Given the description of an element on the screen output the (x, y) to click on. 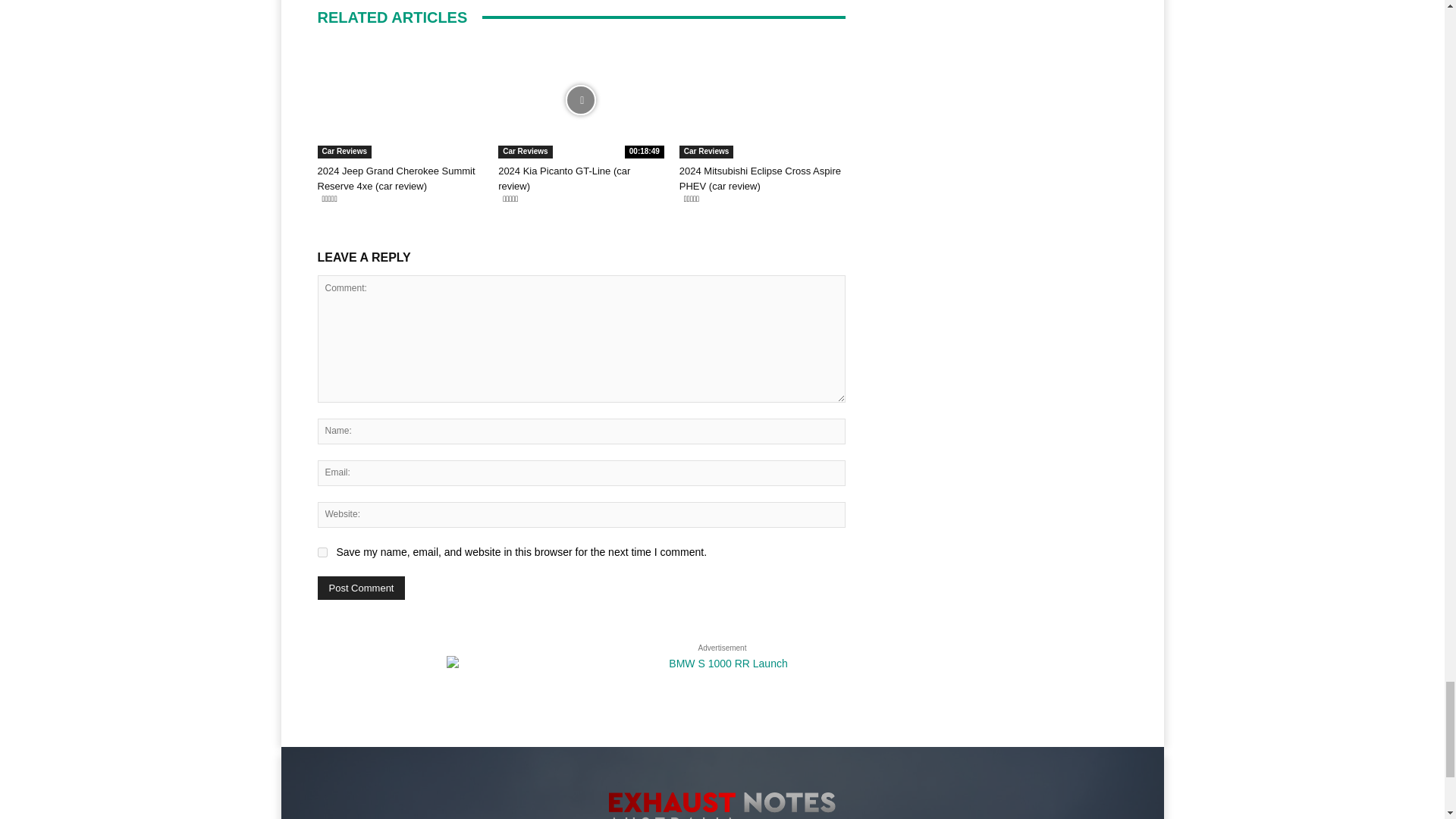
yes (321, 552)
Post Comment (360, 587)
